Given the description of an element on the screen output the (x, y) to click on. 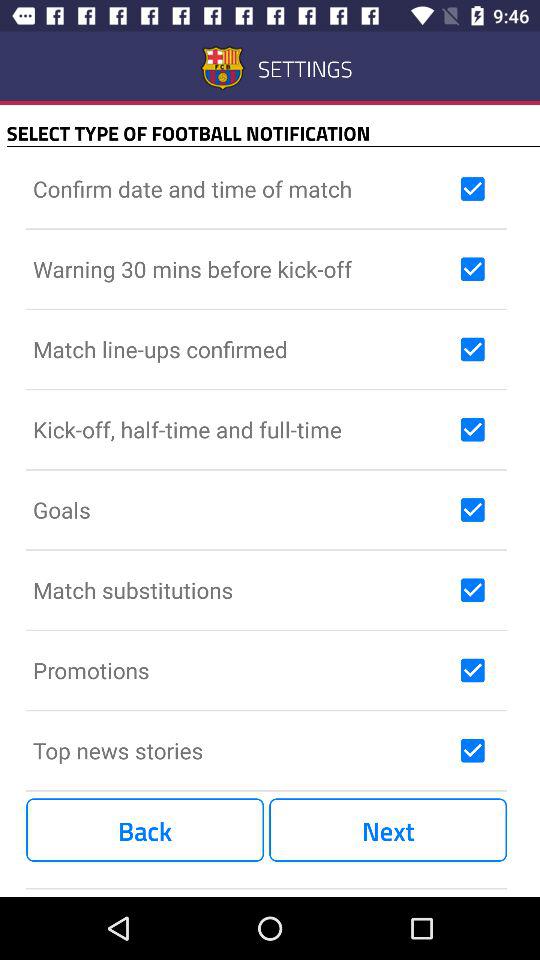
check/uncheck date and time of match confirmation (472, 189)
